Given the description of an element on the screen output the (x, y) to click on. 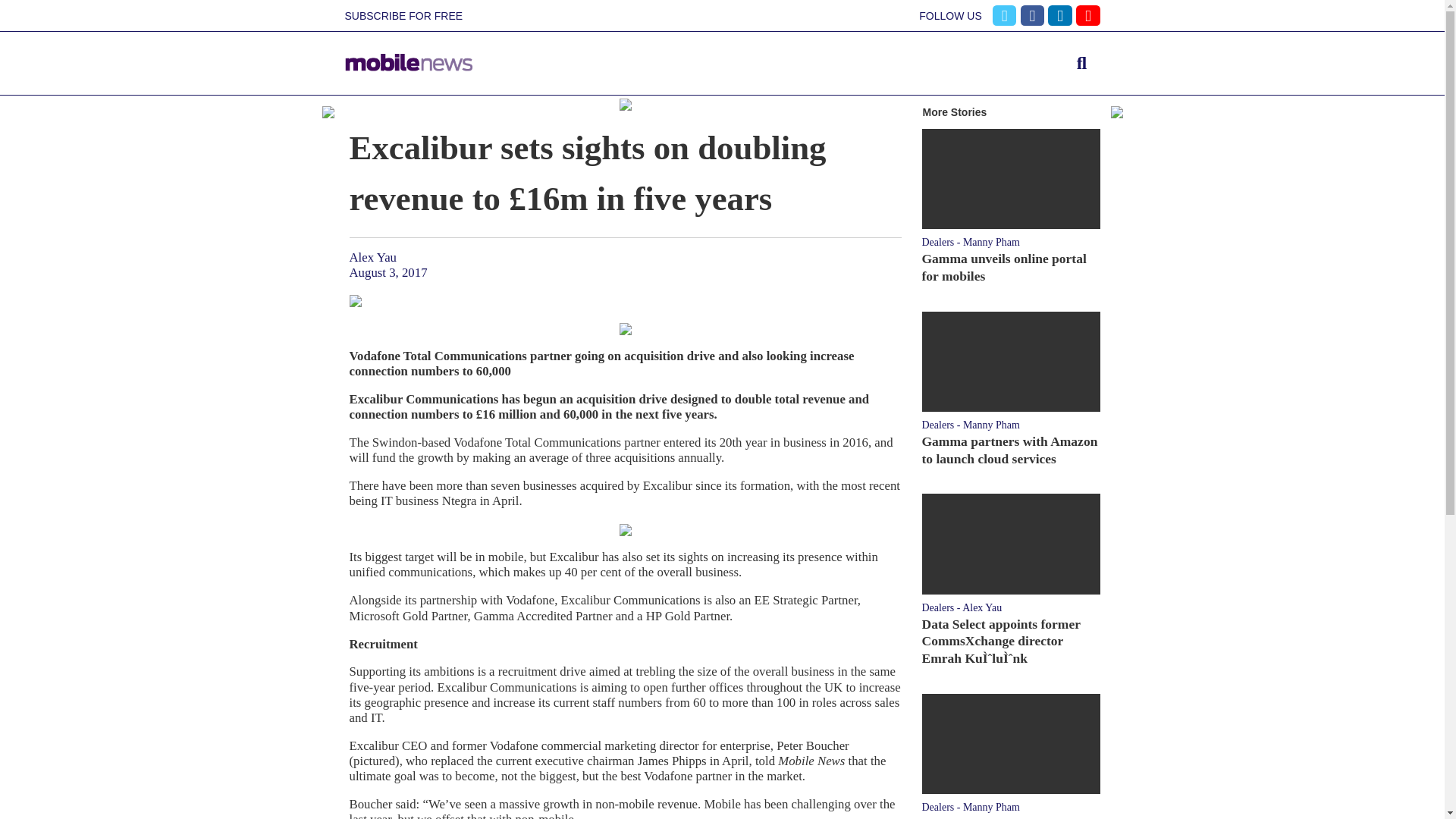
SUBSCRIBE FOR FREE (403, 15)
